Given the description of an element on the screen output the (x, y) to click on. 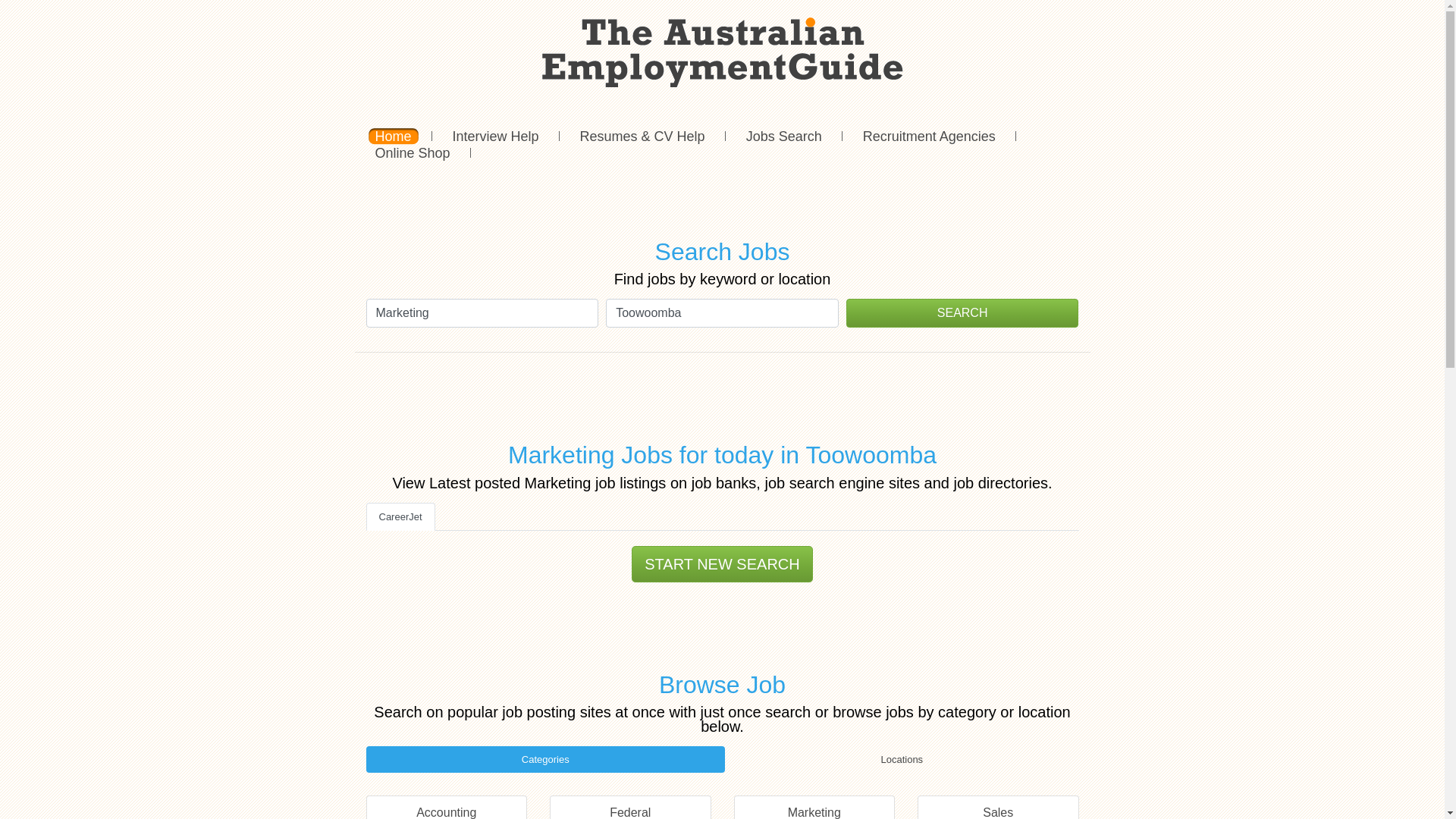
Recruitment Agencies Element type: text (929, 136)
Home Element type: text (393, 136)
CareerJet Element type: text (399, 516)
Categories Element type: text (544, 759)
Jobs Search Element type: text (783, 136)
START NEW SEARCH Element type: text (721, 564)
Online Shop Element type: text (412, 152)
SEARCH Element type: text (962, 312)
The Australian Employment Guide Element type: hover (721, 52)
Resumes & CV Help Element type: text (642, 136)
Interview Help Element type: text (495, 136)
Locations Element type: text (901, 759)
